Given the description of an element on the screen output the (x, y) to click on. 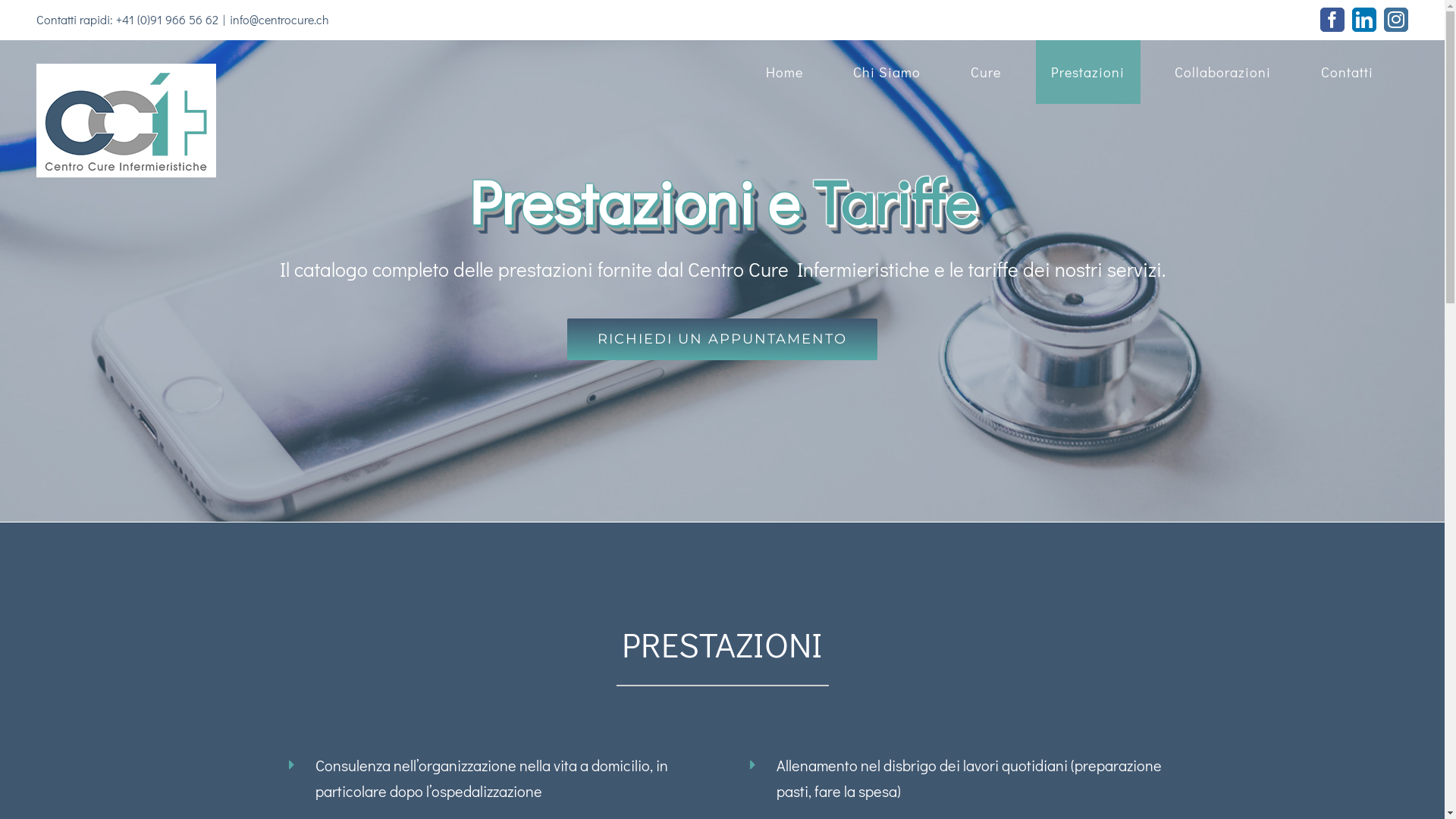
Instagram Element type: text (1395, 19)
Collaborazioni Element type: text (1222, 71)
LinkedIn Element type: text (1364, 19)
Prestazioni Element type: text (1087, 71)
Home Element type: text (784, 71)
Cure Element type: text (985, 71)
Contatti Element type: text (1347, 71)
Facebook Element type: text (1332, 19)
Chi Siamo Element type: text (886, 71)
info@centrocure.ch Element type: text (279, 19)
RICHIEDI UN APPUNTAMENTO Element type: text (722, 339)
+41 (0)91 966 56 62 Element type: text (167, 19)
